Given the description of an element on the screen output the (x, y) to click on. 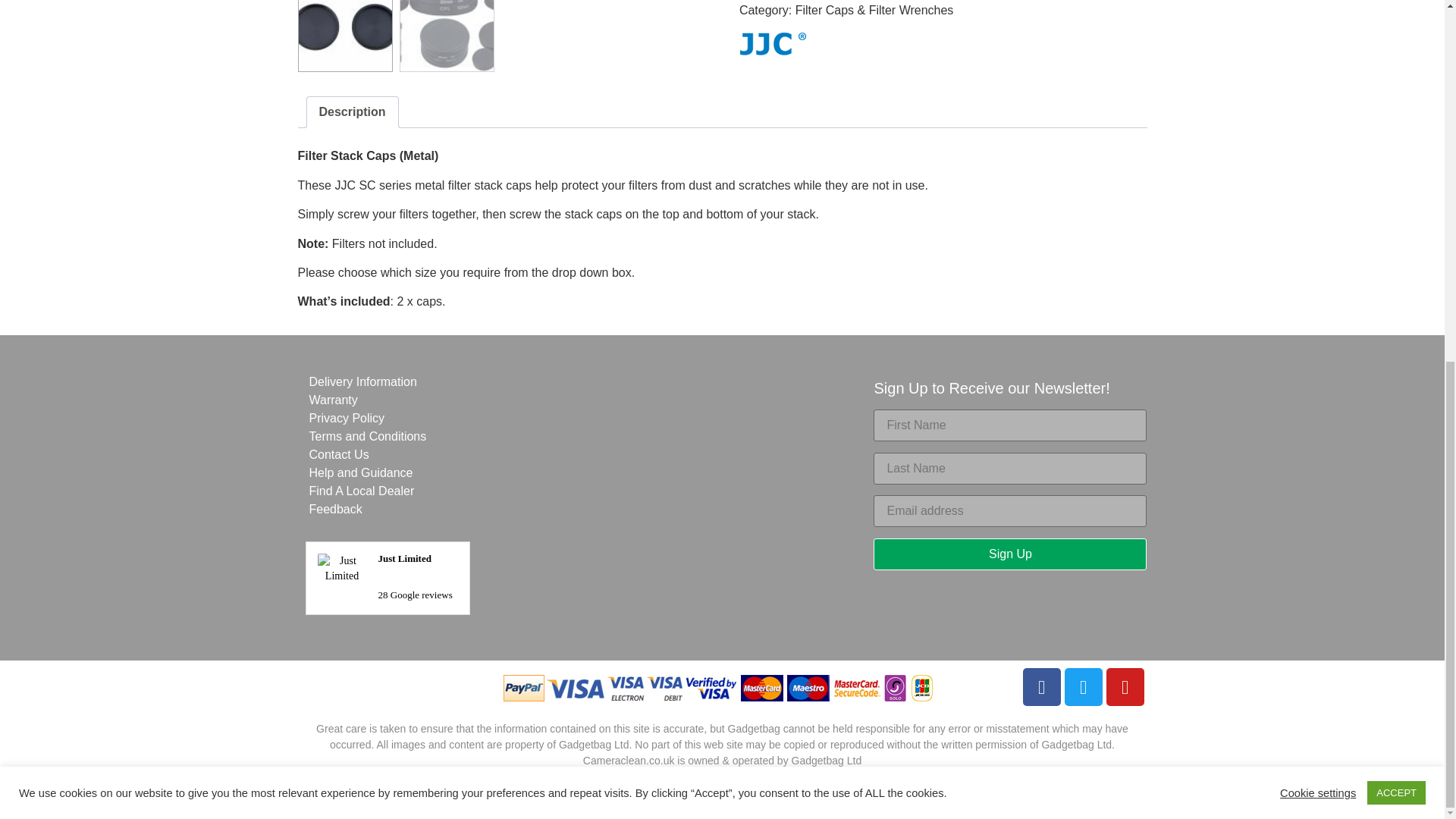
JJC (772, 46)
Sign Up (1010, 554)
